Given the description of an element on the screen output the (x, y) to click on. 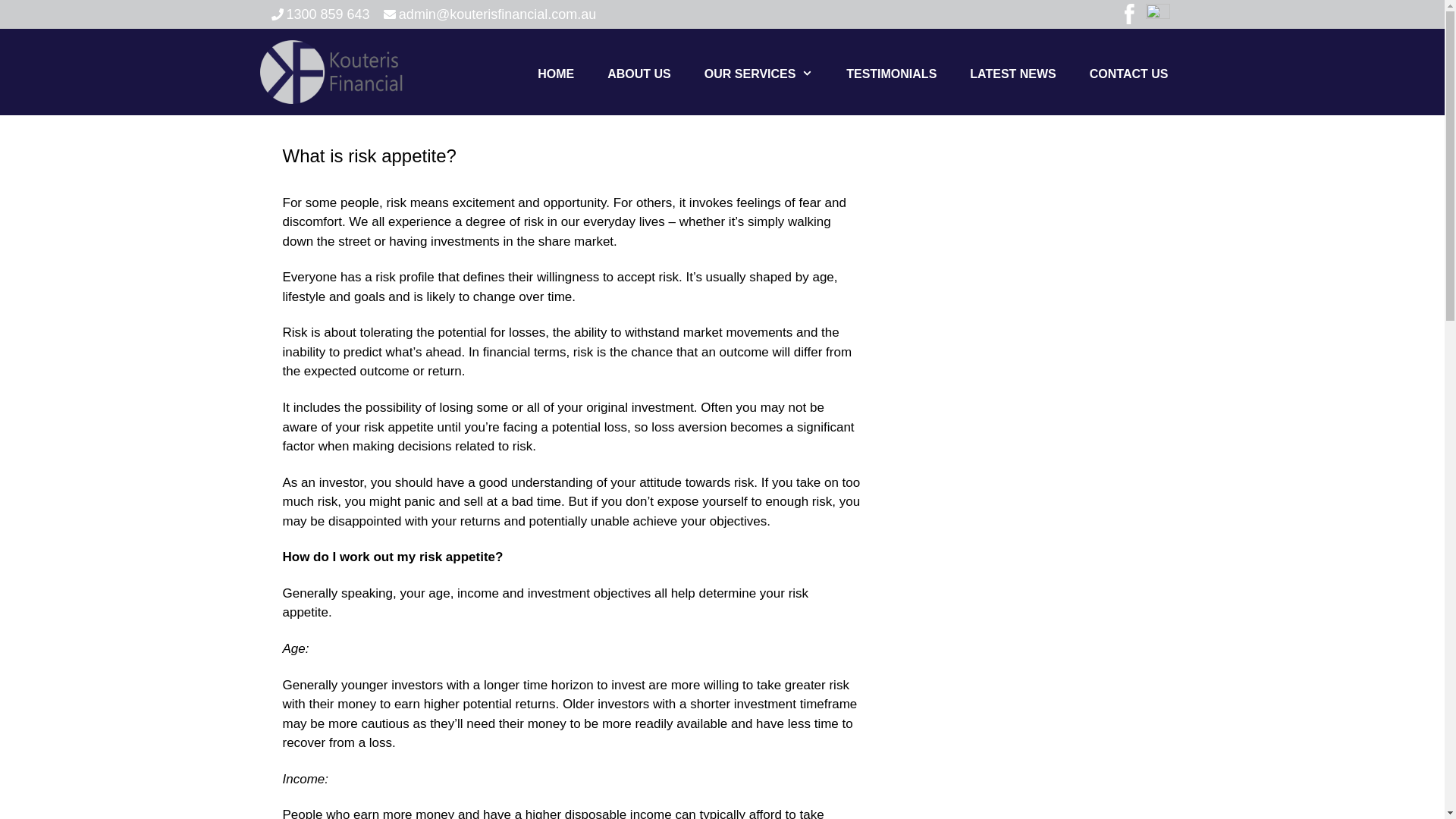
ABOUT US Element type: text (638, 73)
OUR SERVICES Element type: text (758, 73)
CONTACT US Element type: text (1129, 73)
TESTIMONIALS Element type: text (891, 73)
LATEST NEWS Element type: text (1012, 73)
HOME Element type: text (555, 73)
